Given the description of an element on the screen output the (x, y) to click on. 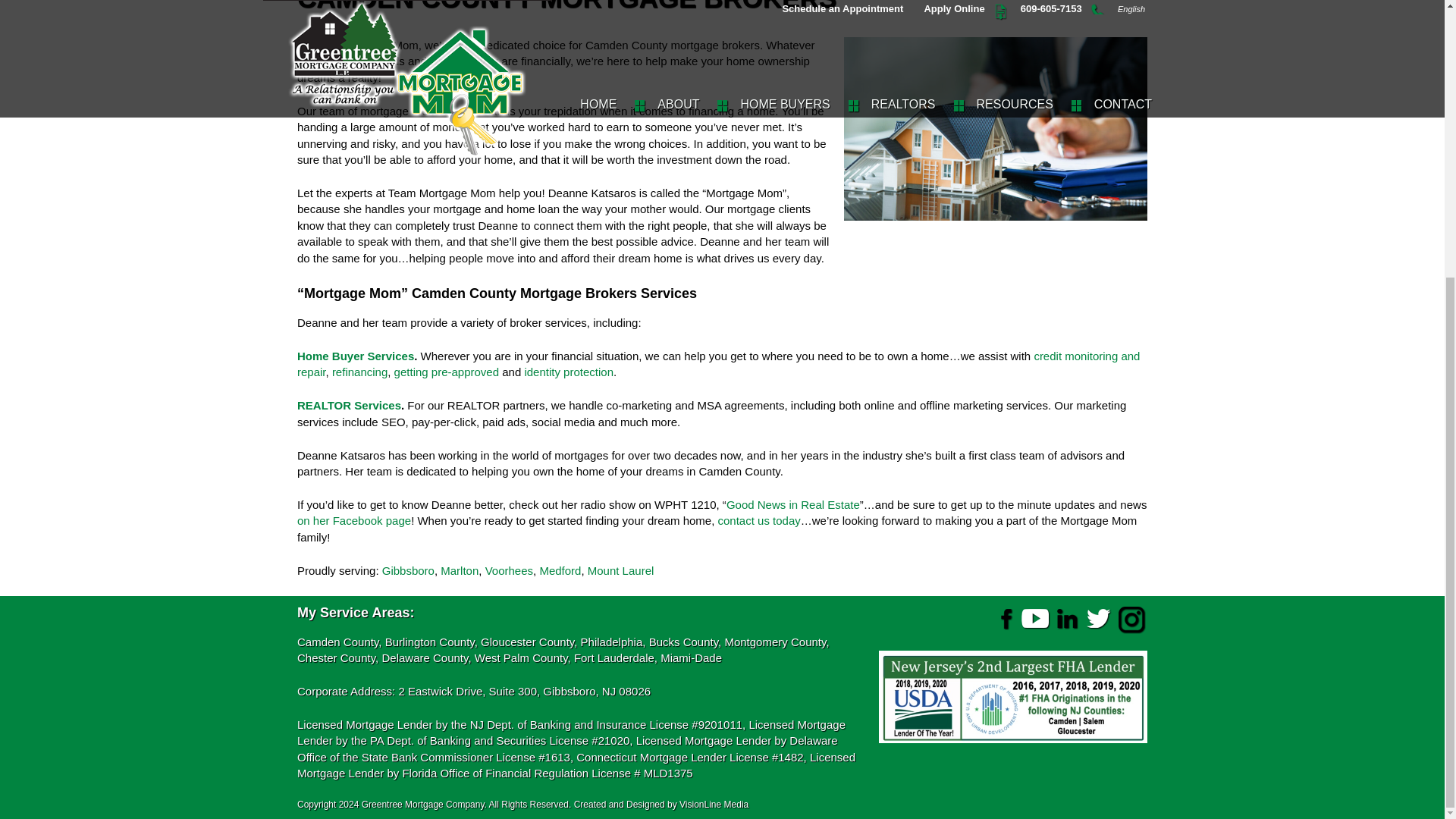
Medford (559, 570)
LinkedIn (1067, 617)
Burlington County (429, 641)
credit monitoring and repair (718, 363)
YouTube (1035, 619)
Gibbsboro (407, 570)
Facebook (1004, 617)
refinancing (359, 371)
YouTube (1035, 617)
getting pre-approved (446, 371)
